Given the description of an element on the screen output the (x, y) to click on. 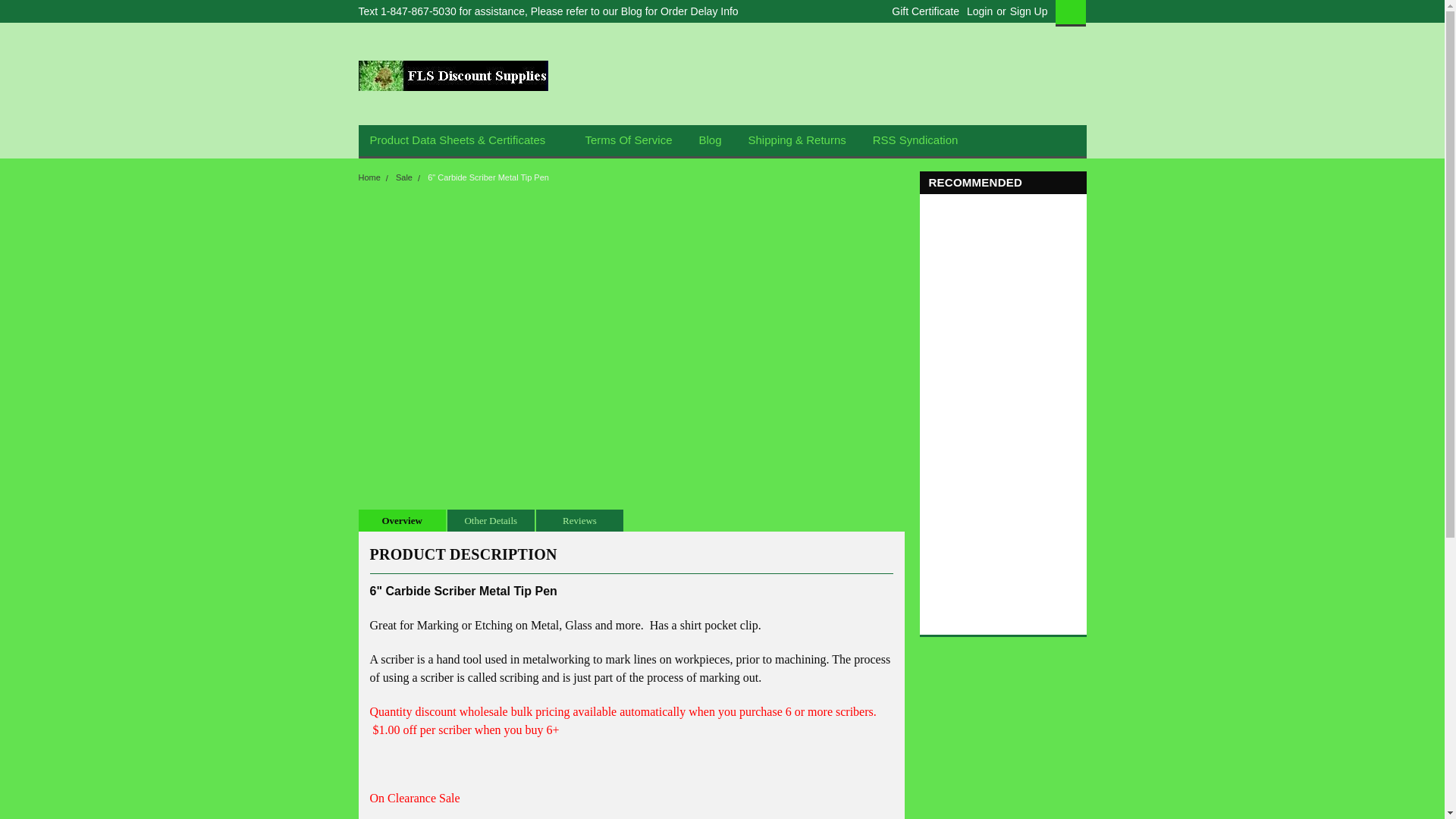
Sign Up (1027, 11)
Gift Certificate (921, 11)
Login (979, 11)
FLS Discount Supplies (452, 75)
